Given the description of an element on the screen output the (x, y) to click on. 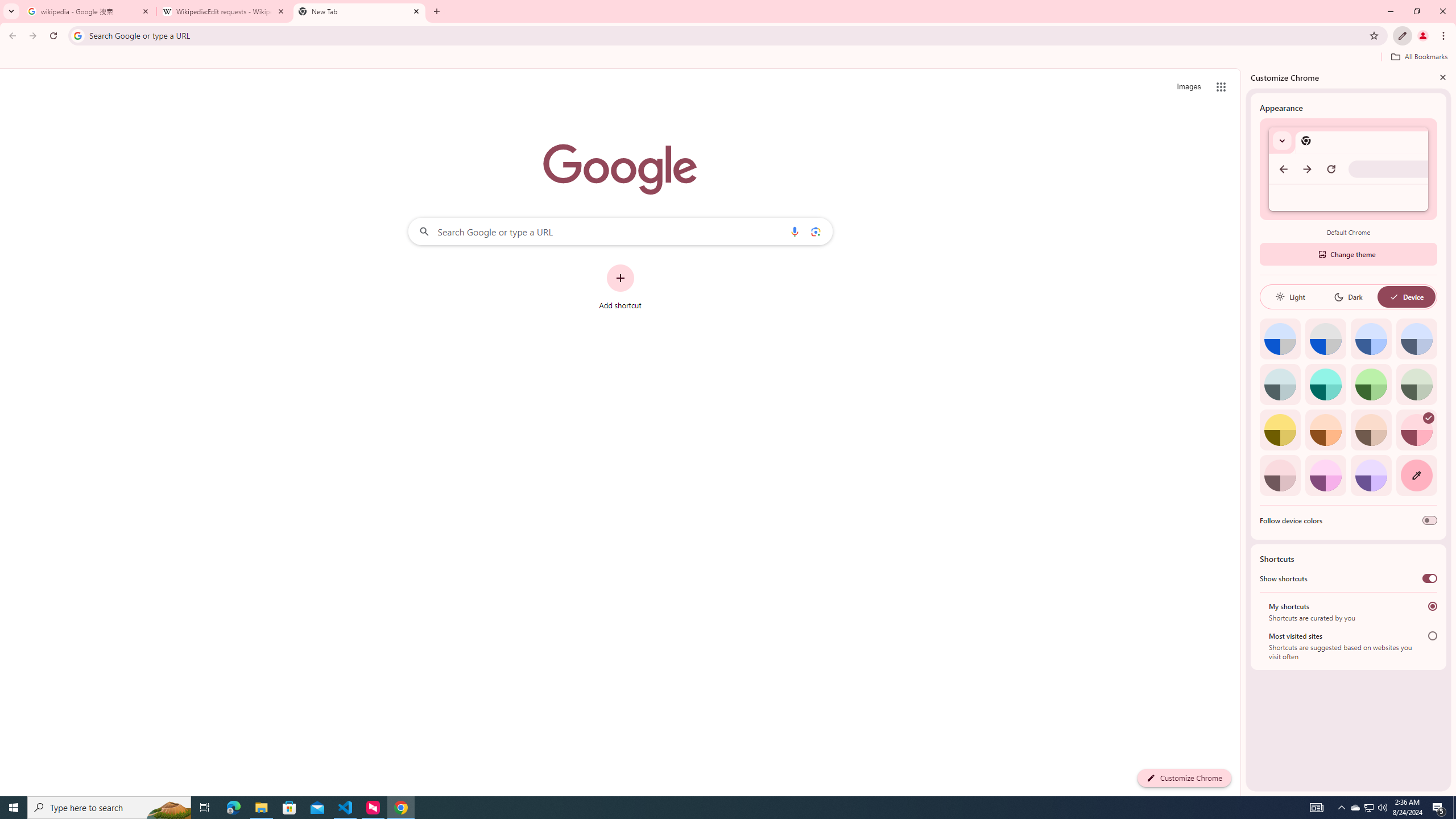
Add shortcut (620, 287)
Fuchsia (1325, 475)
Aqua (1325, 383)
Cool grey (1416, 338)
Grey default color (1325, 338)
Bookmarks (728, 58)
Viridian (1416, 383)
Customize Chrome (1402, 35)
